Given the description of an element on the screen output the (x, y) to click on. 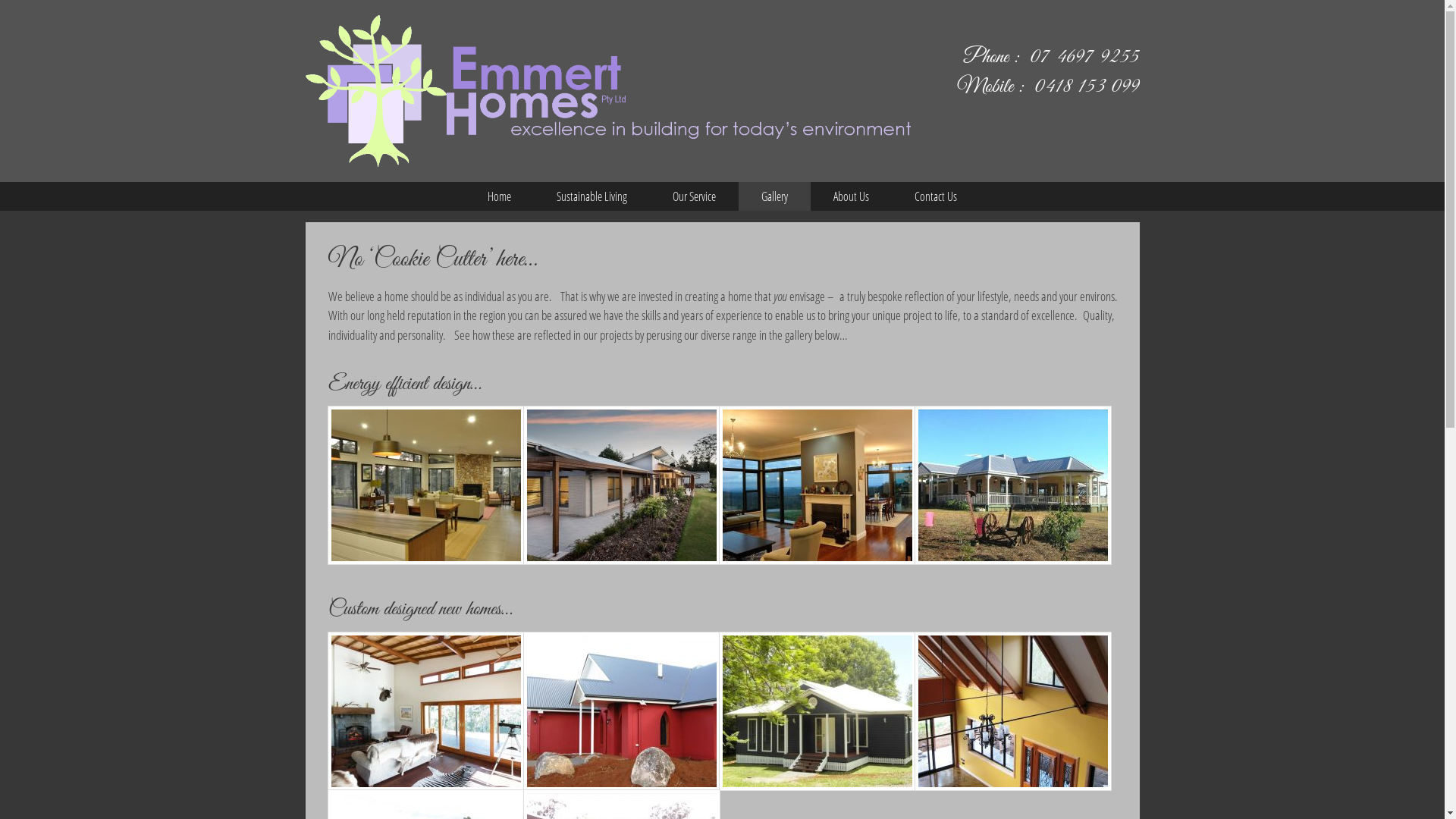
Our Service Element type: text (693, 196)
Emmert Homes Element type: hover (607, 90)
Home Element type: text (498, 196)
Contact Us Element type: text (935, 196)
Entrant Excellence in Sustainable Living Element type: hover (620, 485)
About Us Element type: text (850, 196)
Gallery Element type: text (774, 196)
Sustainable Living Element type: text (591, 196)
Skip to content Element type: text (0, 0)
Emmert Homes Element type: hover (607, 88)
